Given the description of an element on the screen output the (x, y) to click on. 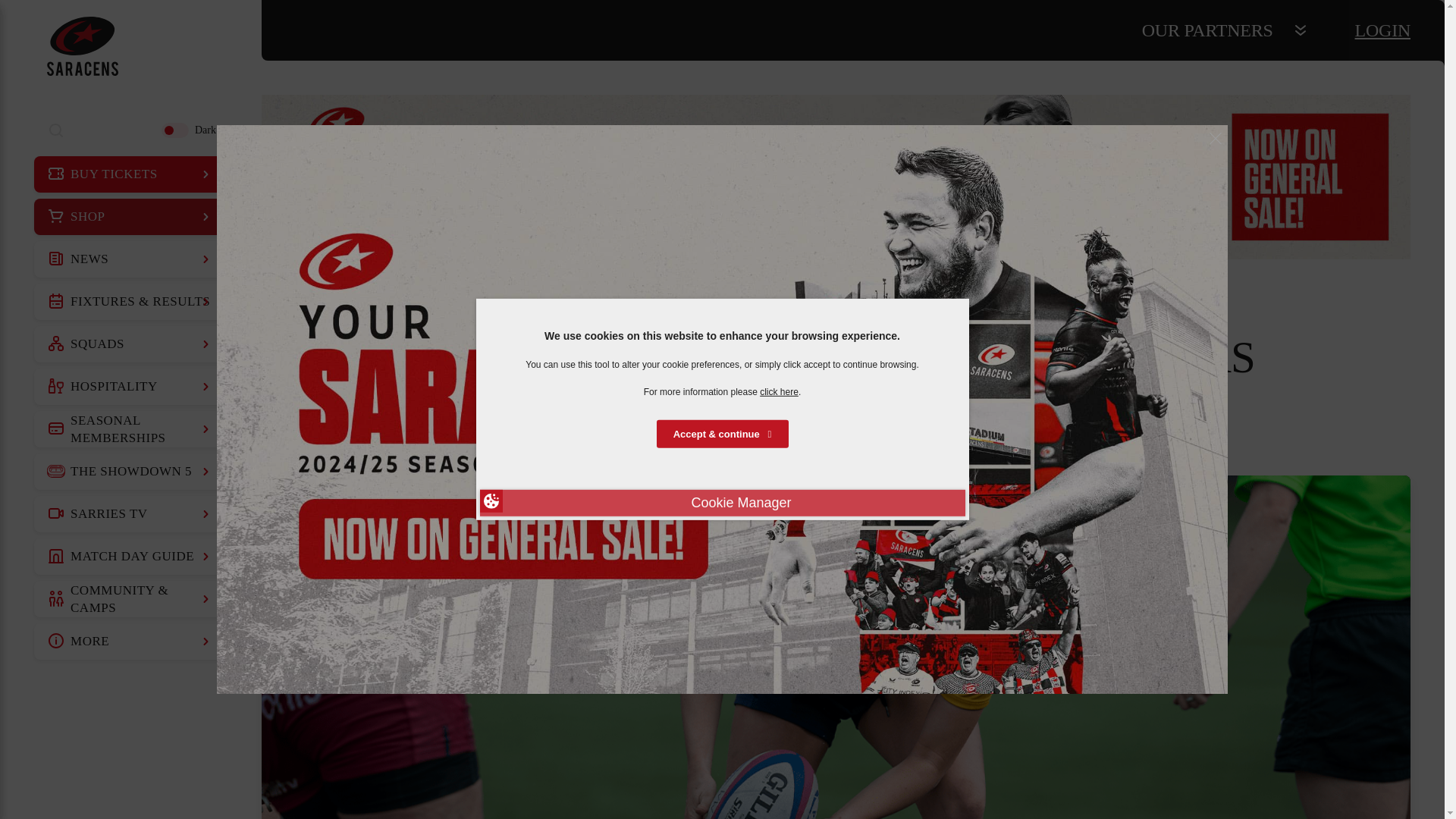
MATCH DAY GUIDE (130, 556)
SHOP (130, 217)
LOGIN (1382, 29)
BUY TICKETS (130, 174)
THE SHOWDOWN 5 (130, 471)
MORE (130, 641)
SEASONAL MEMBERSHIPS (130, 429)
HOSPITALITY (130, 386)
SARRIES TV (130, 514)
SQUADS (130, 343)
NEWS (130, 258)
Search (55, 130)
Cookie Manager (721, 502)
